Given the description of an element on the screen output the (x, y) to click on. 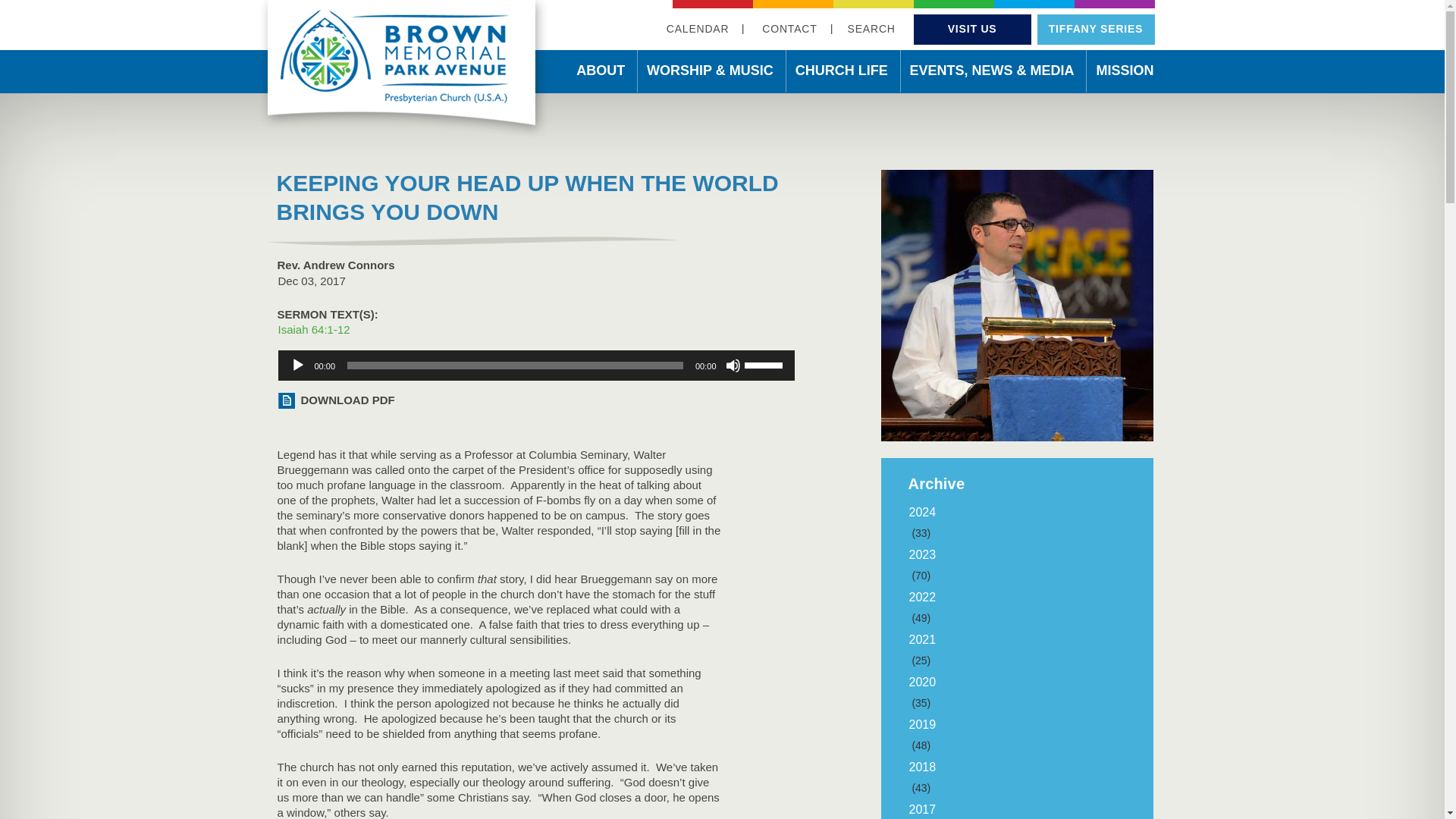
Play (296, 365)
ABOUT (600, 72)
SEARCH (871, 28)
CALENDAR (697, 28)
Mute (732, 365)
VISIT US (972, 28)
CHURCH LIFE (841, 72)
TIFFANY SERIES (1095, 28)
CONTACT (788, 28)
